Given the description of an element on the screen output the (x, y) to click on. 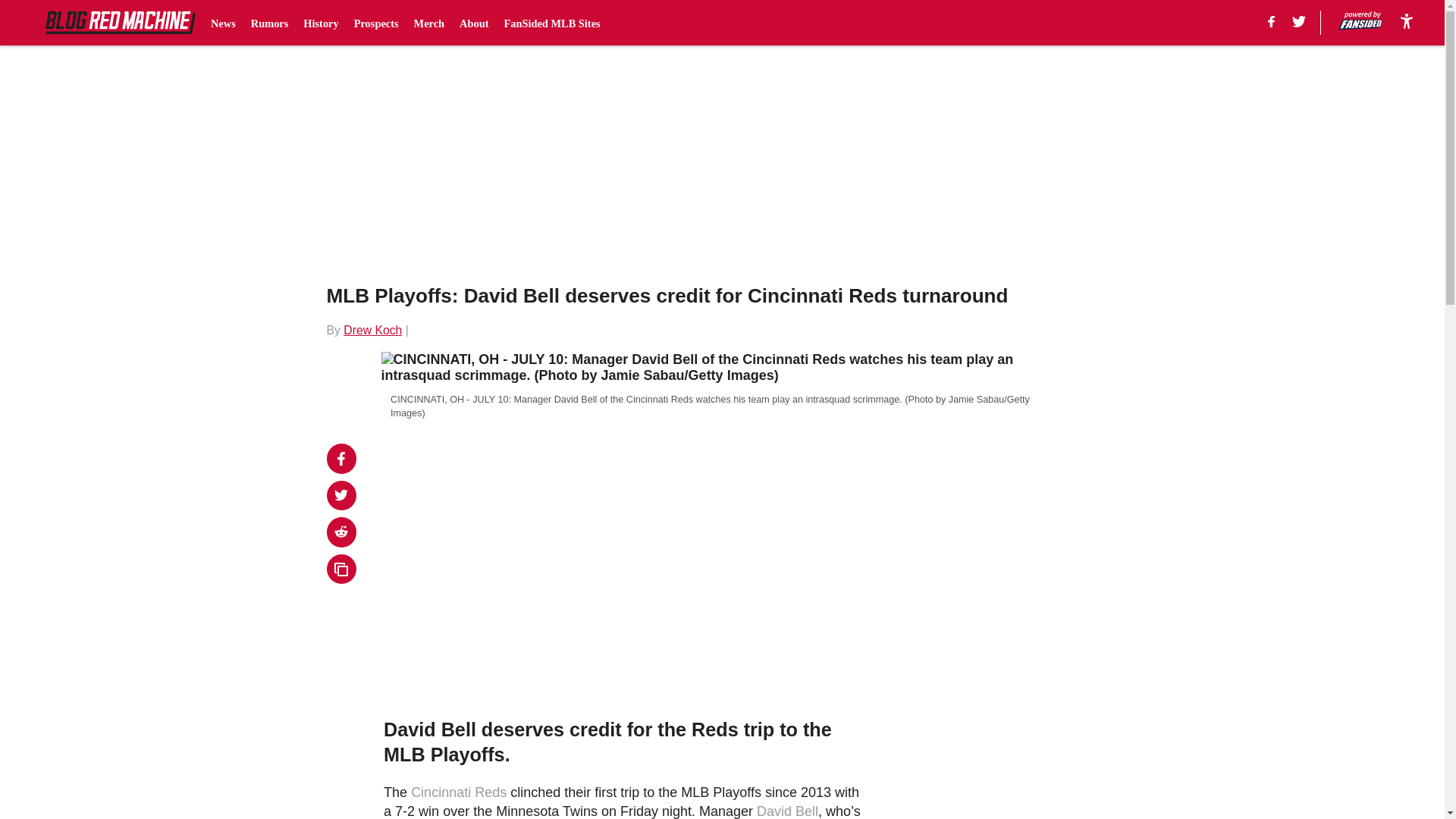
David Bell (787, 811)
Cincinnati Reds (458, 792)
FanSided MLB Sites (551, 23)
About (473, 23)
Drew Koch (372, 329)
Merch (429, 23)
News (223, 23)
History (319, 23)
Prospects (375, 23)
Rumors (269, 23)
